Given the description of an element on the screen output the (x, y) to click on. 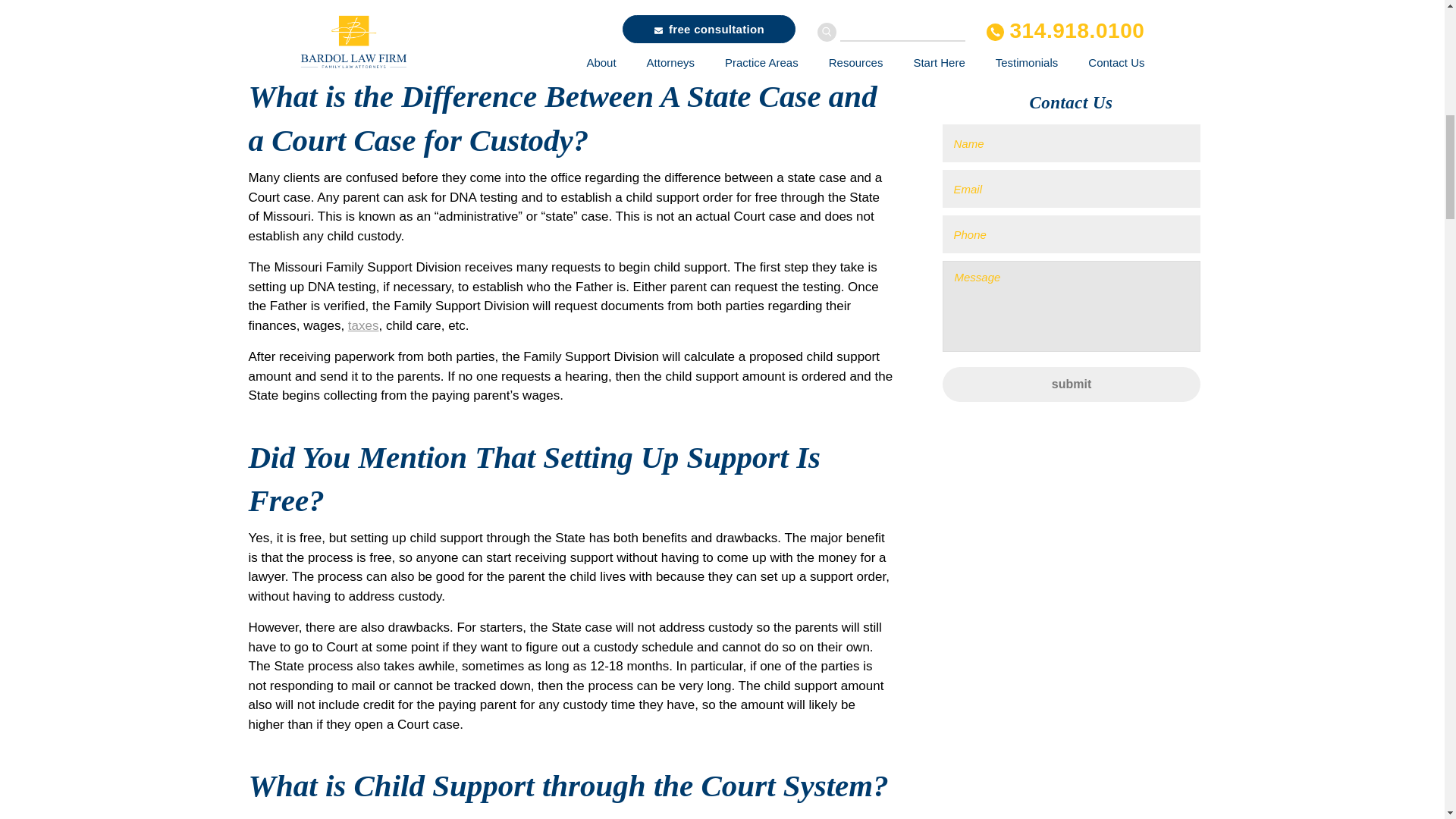
submit (1070, 133)
